Given the description of an element on the screen output the (x, y) to click on. 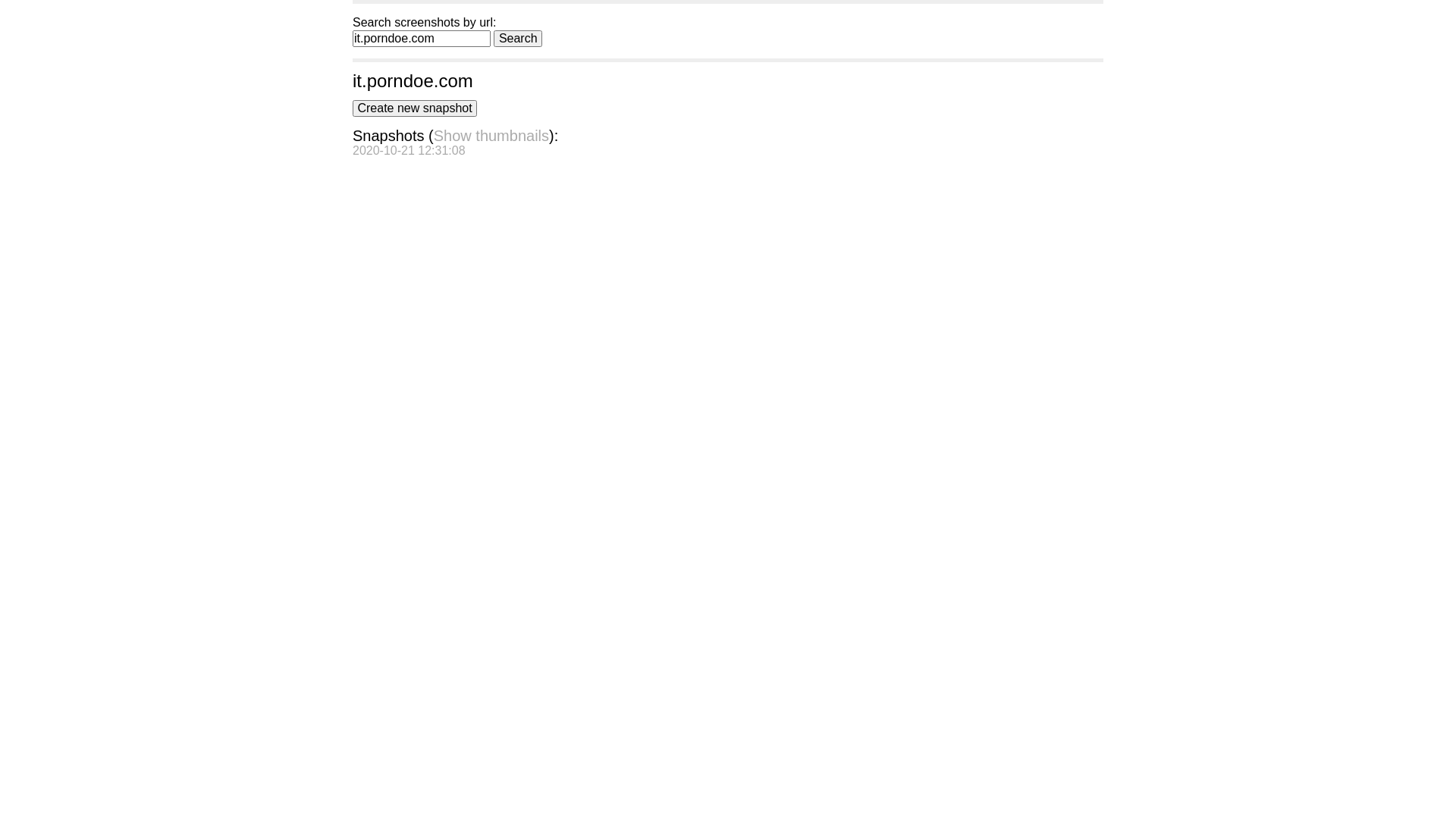
 Search  Element type: text (517, 38)
Show thumbnails Element type: text (491, 135)
 Create new snapshot  Element type: text (414, 108)
2020-10-21 12:31:08 Element type: text (408, 150)
